Given the description of an element on the screen output the (x, y) to click on. 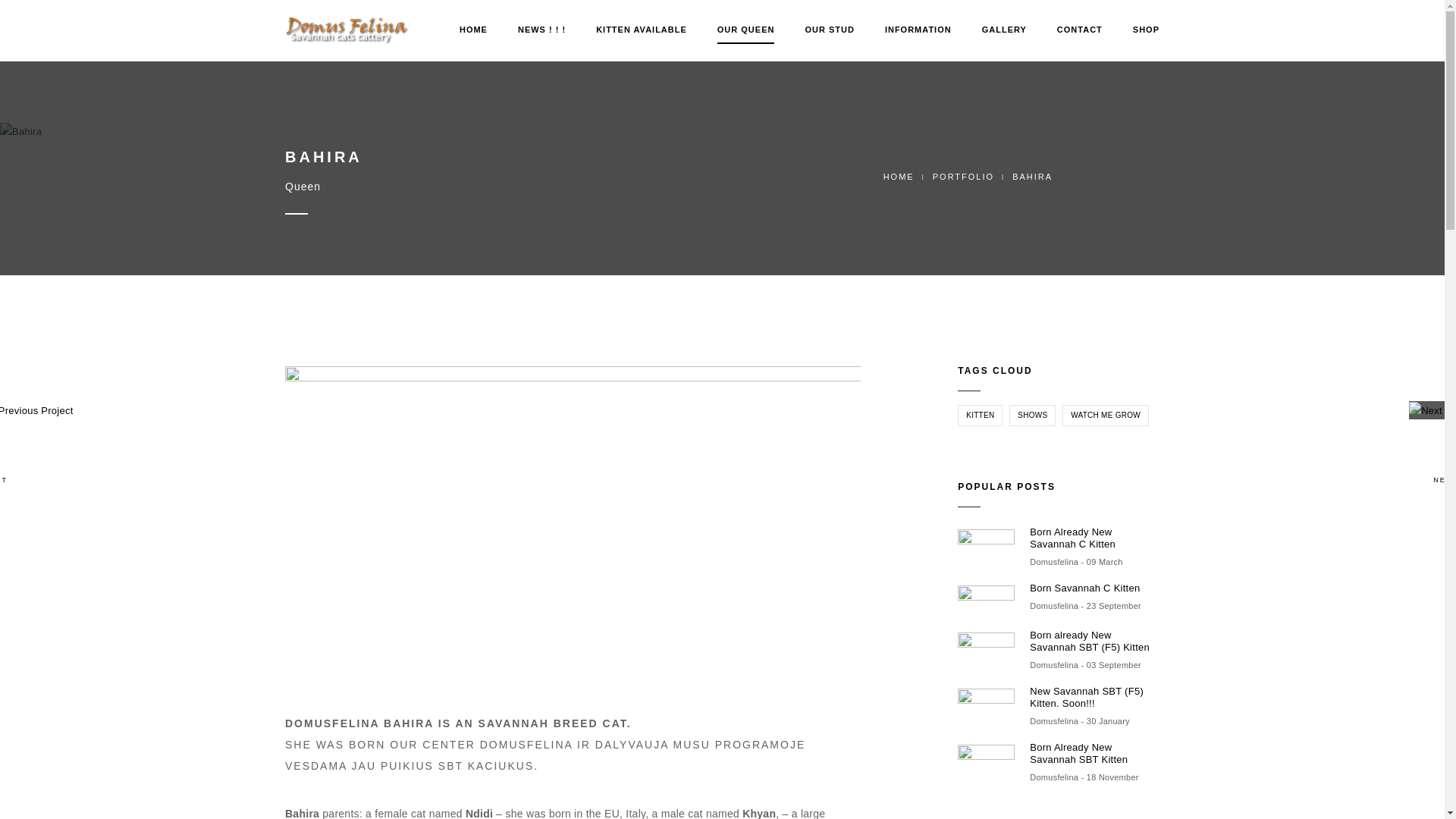
HOME (473, 29)
Browse to: Home (898, 175)
NEWS ! ! ! (542, 29)
KITTEN AVAILABLE (641, 29)
OUR QUEEN (745, 29)
